Given the description of an element on the screen output the (x, y) to click on. 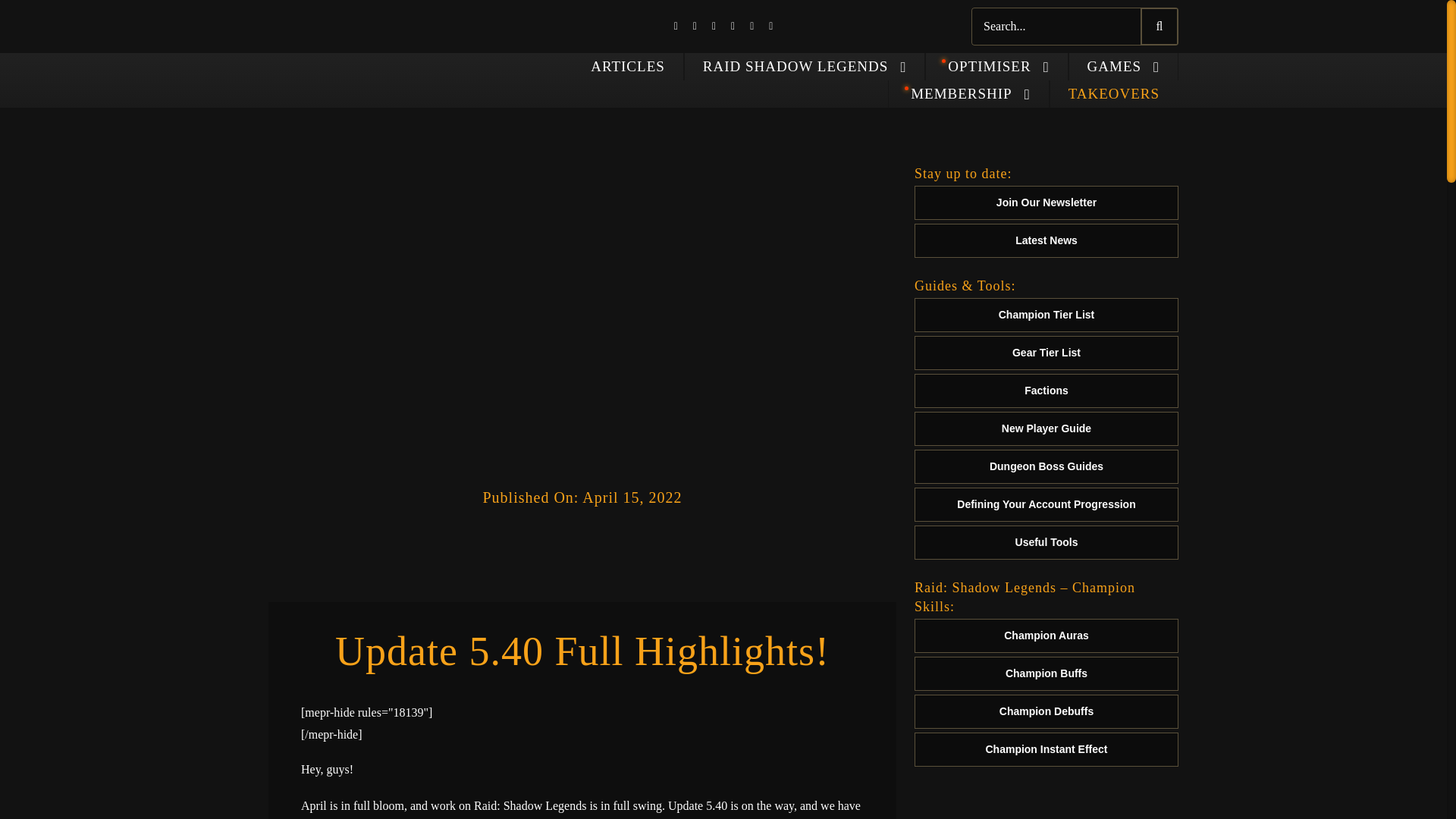
RAID SHADOW LEGENDS (805, 66)
ARTICLES (628, 66)
